Given the description of an element on the screen output the (x, y) to click on. 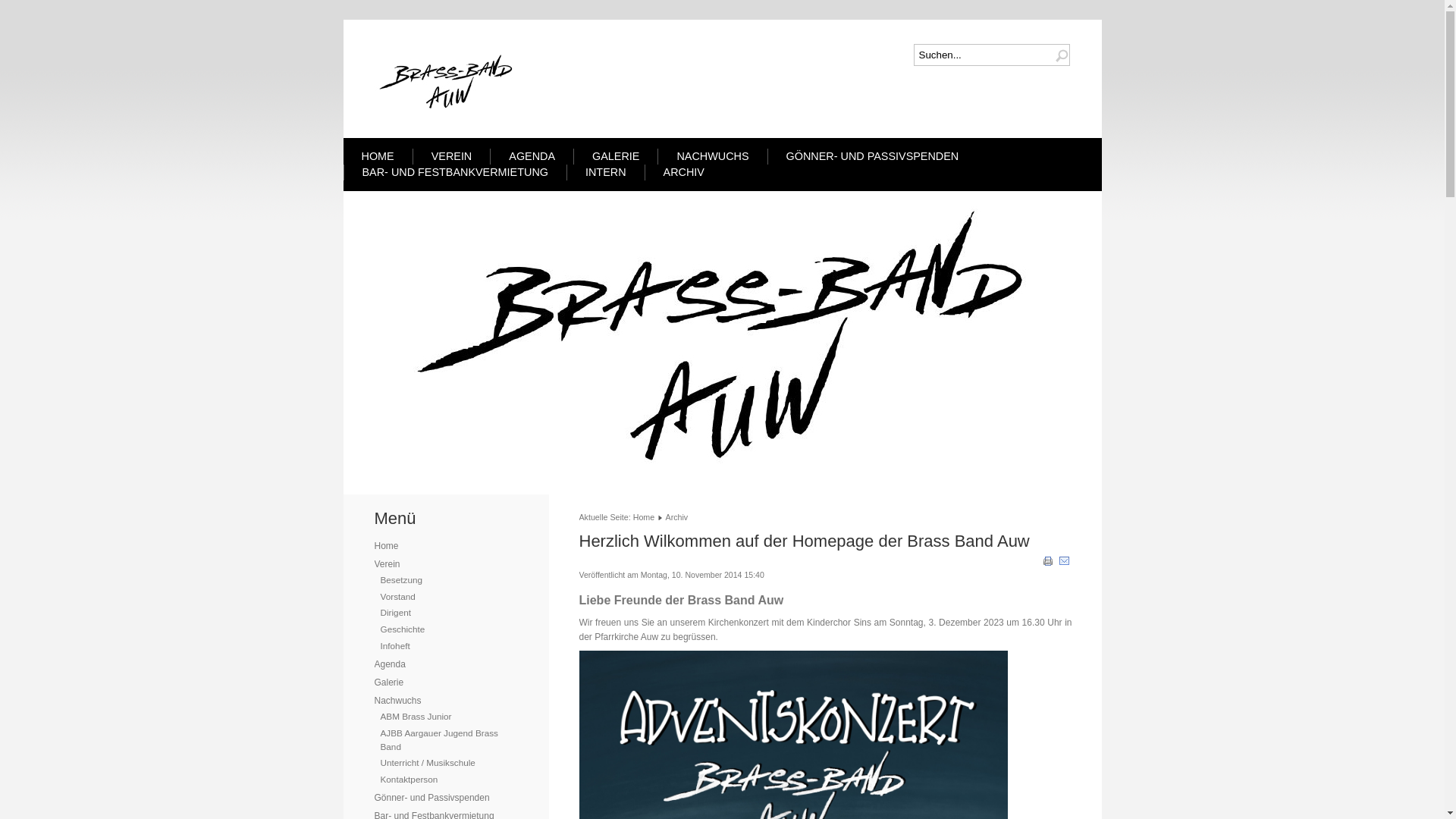
Drucken Element type: hover (1047, 563)
HOME Element type: text (377, 155)
Agenda Element type: text (389, 663)
Home Element type: text (643, 516)
Galerie Element type: text (389, 682)
Vorstand Element type: text (397, 596)
AJBB Aargauer Jugend Brass Band Element type: text (439, 739)
ARCHIV Element type: text (683, 171)
Unterricht / Musikschule Element type: text (427, 762)
Dirigent Element type: text (395, 612)
Kontaktperson Element type: text (409, 779)
AGENDA Element type: text (531, 155)
Nachwuchs Element type: text (397, 700)
ABM Brass Junior Element type: text (415, 716)
BAR- UND FESTBANKVERMIETUNG Element type: text (454, 171)
E-Mail Element type: hover (1064, 563)
INTERN Element type: text (605, 171)
Infoheft Element type: text (395, 645)
Besetzung Element type: text (401, 579)
Home Element type: text (386, 545)
VEREIN Element type: text (451, 155)
NACHWUCHS Element type: text (712, 155)
GALERIE Element type: text (615, 155)
Verein Element type: text (387, 563)
Geschichte Element type: text (402, 628)
